Given the description of an element on the screen output the (x, y) to click on. 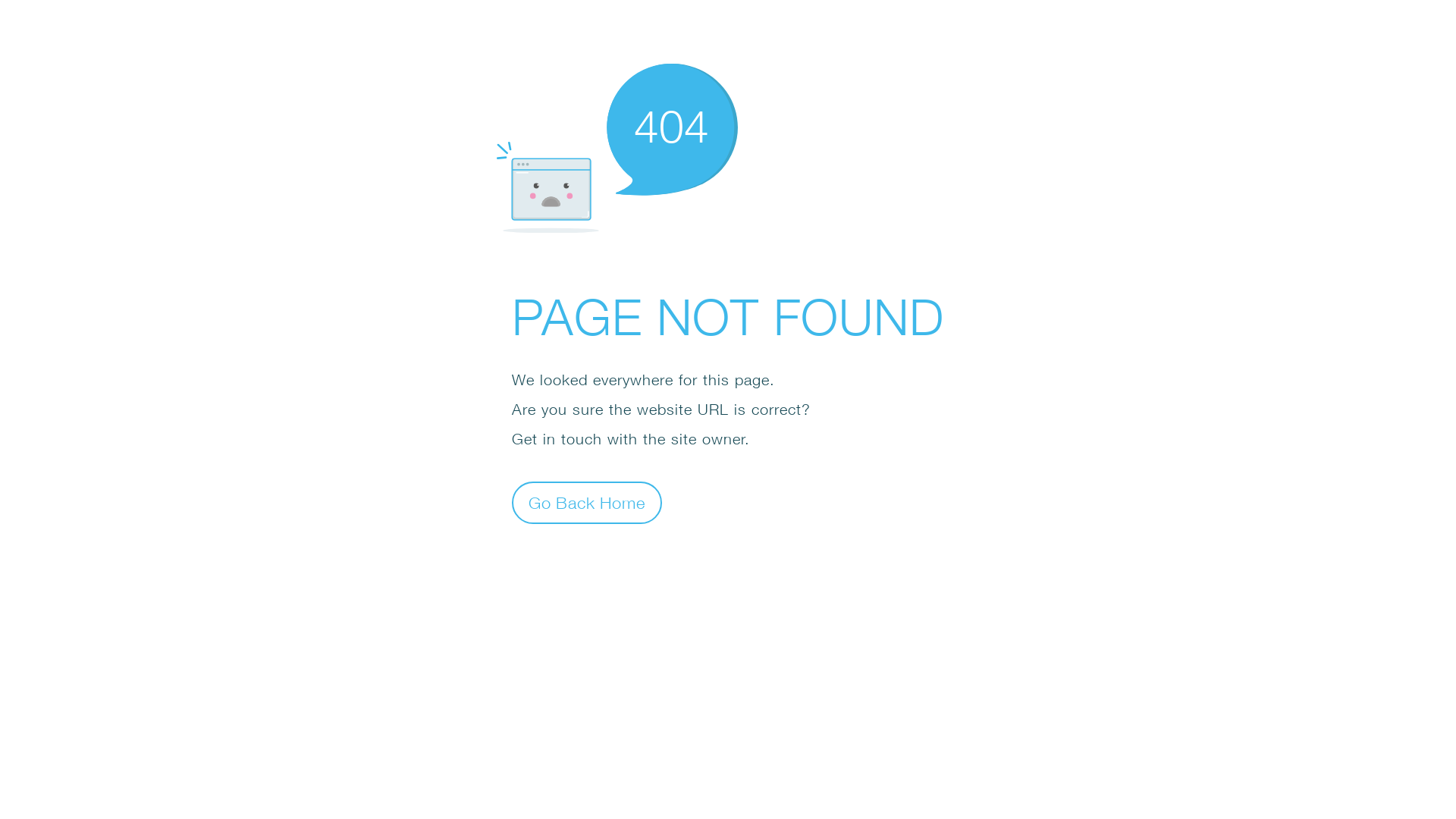
Go Back Home Element type: text (586, 502)
